Given the description of an element on the screen output the (x, y) to click on. 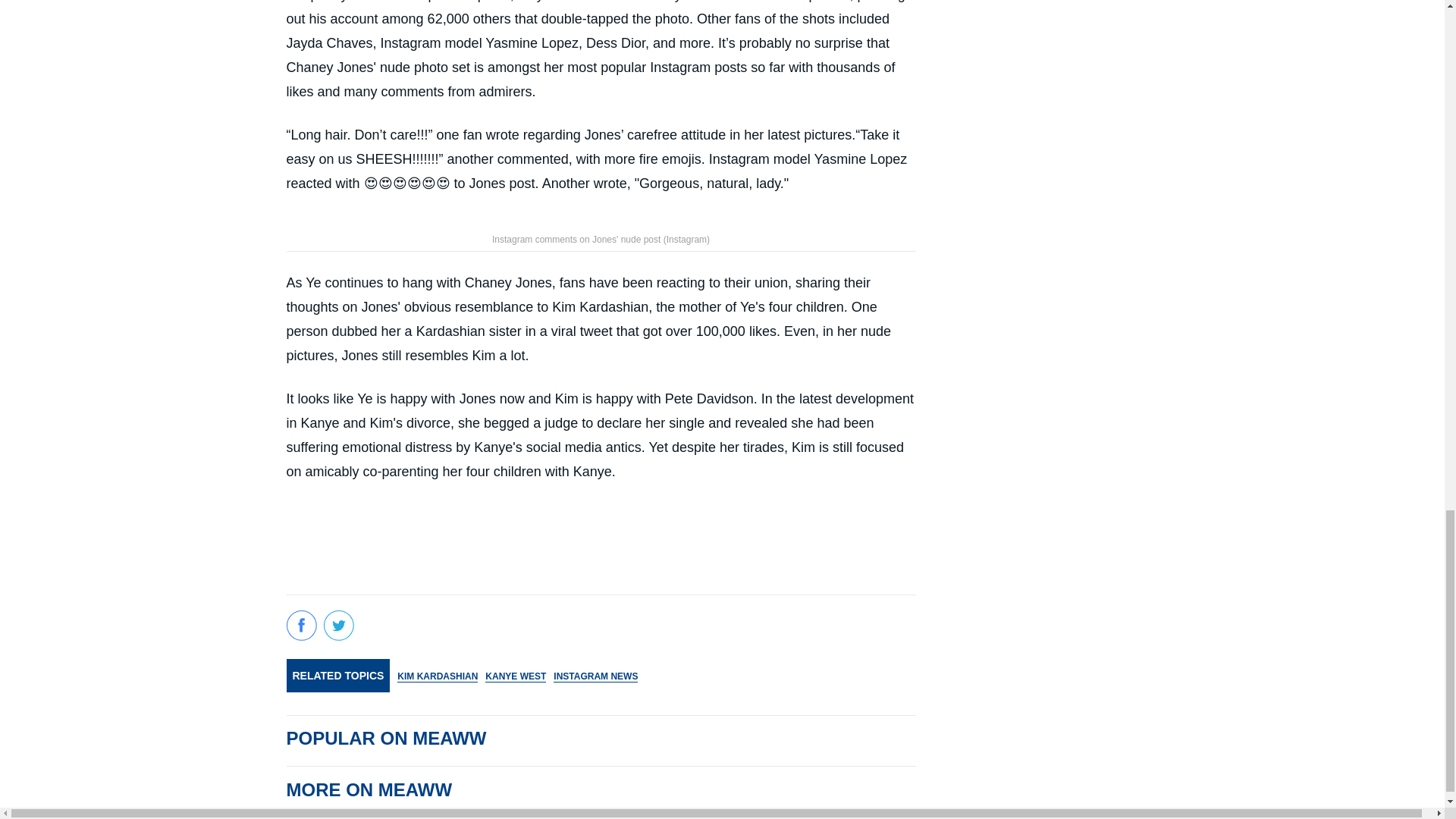
INSTAGRAM NEWS (595, 676)
KIM KARDASHIAN (437, 676)
KANYE WEST (515, 676)
